Given the description of an element on the screen output the (x, y) to click on. 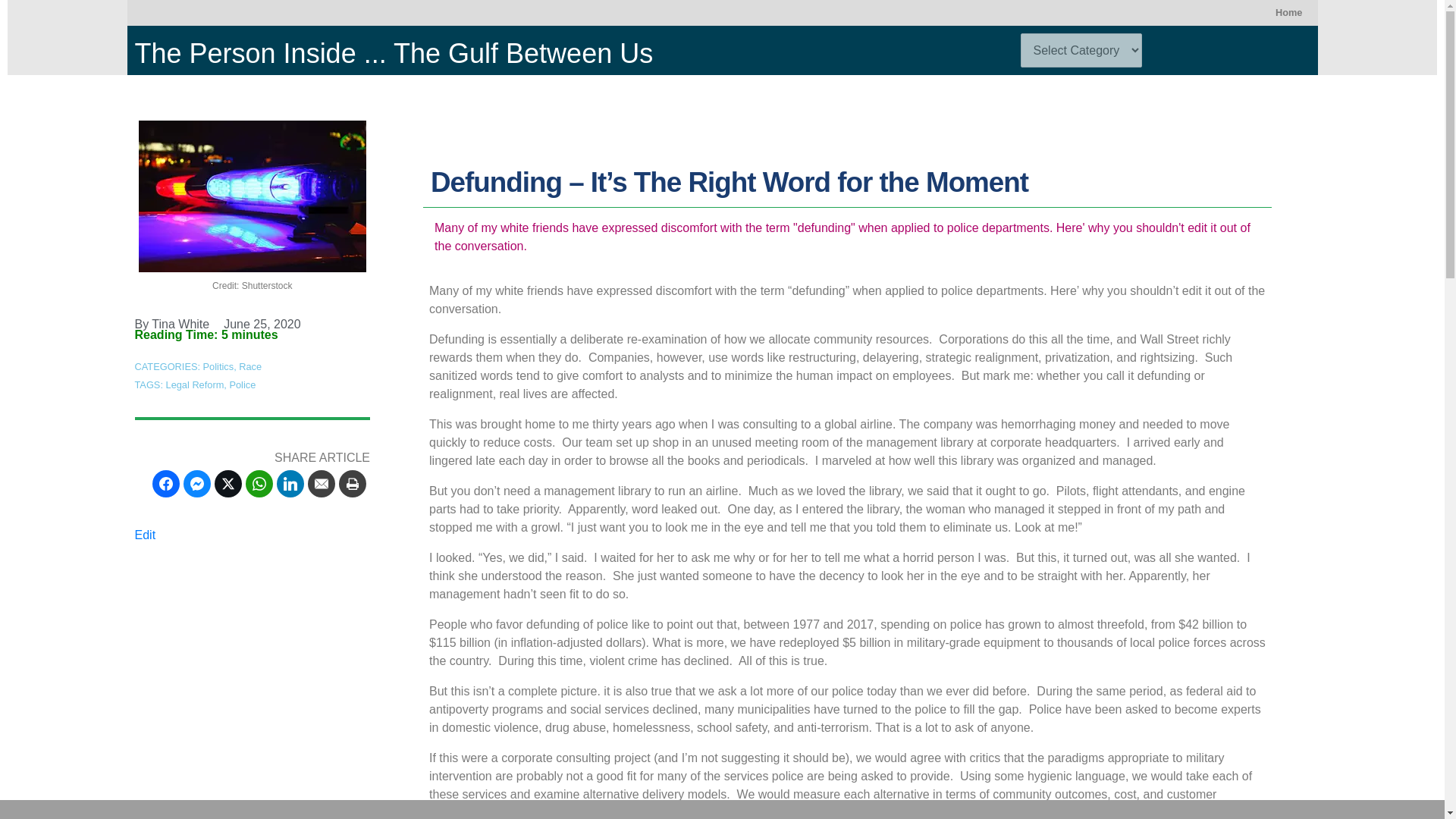
Police (242, 384)
Race (250, 366)
Share on WhatsApp (259, 483)
Share on Twitter (227, 483)
Legal Reform (194, 384)
Share on Facebook (165, 483)
Share on Email (320, 483)
June 25, 2020 (259, 324)
Share on LinkedIn (290, 483)
Share on Print (352, 483)
Politics (218, 366)
Edit (145, 534)
Share on Facebook Messenger (197, 483)
By Tina White (172, 324)
Home (1288, 12)
